Given the description of an element on the screen output the (x, y) to click on. 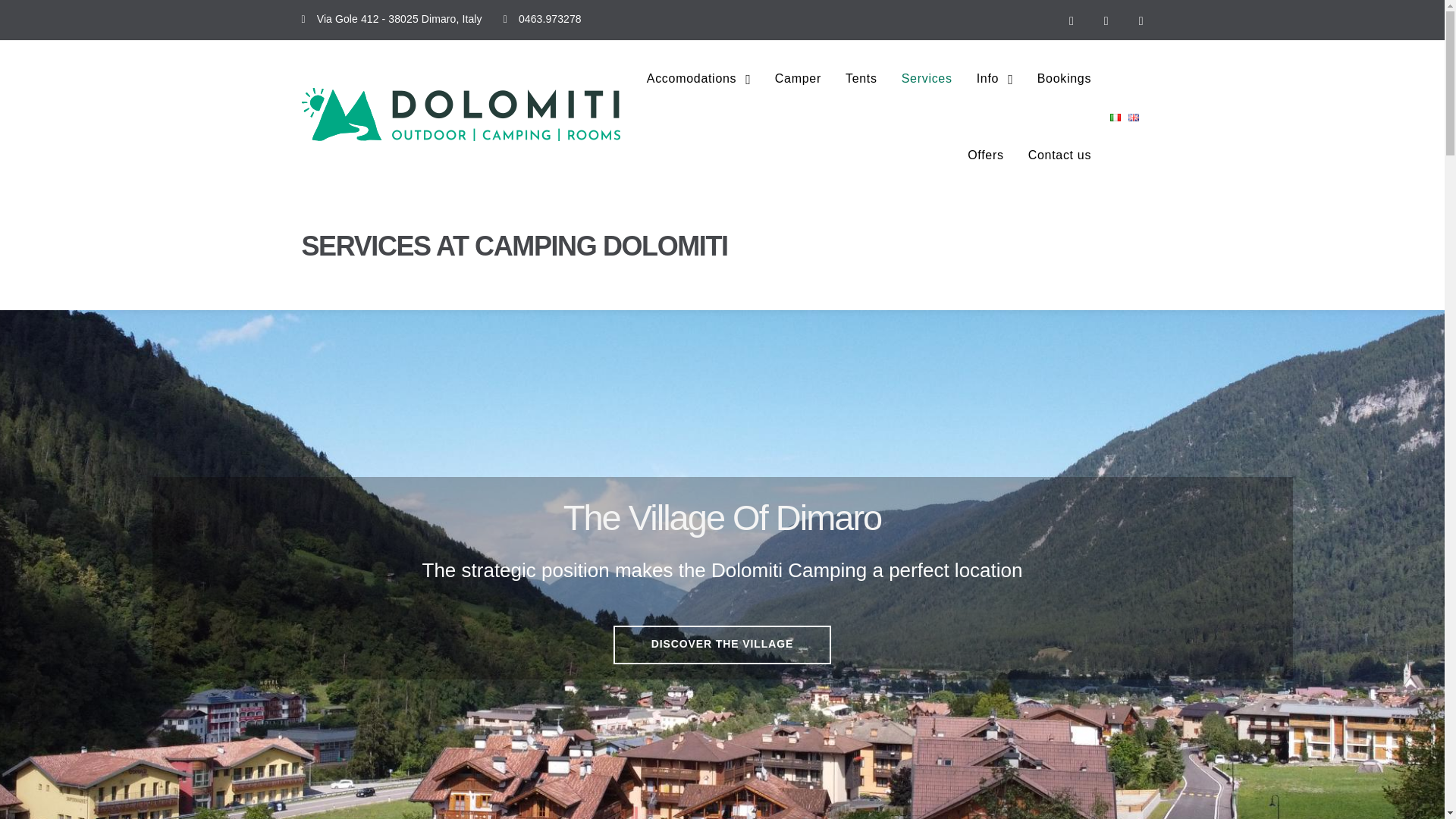
0463.973278 (549, 19)
Accomodations (691, 78)
home (460, 101)
Italiano (1115, 117)
English (1133, 117)
